Given the description of an element on the screen output the (x, y) to click on. 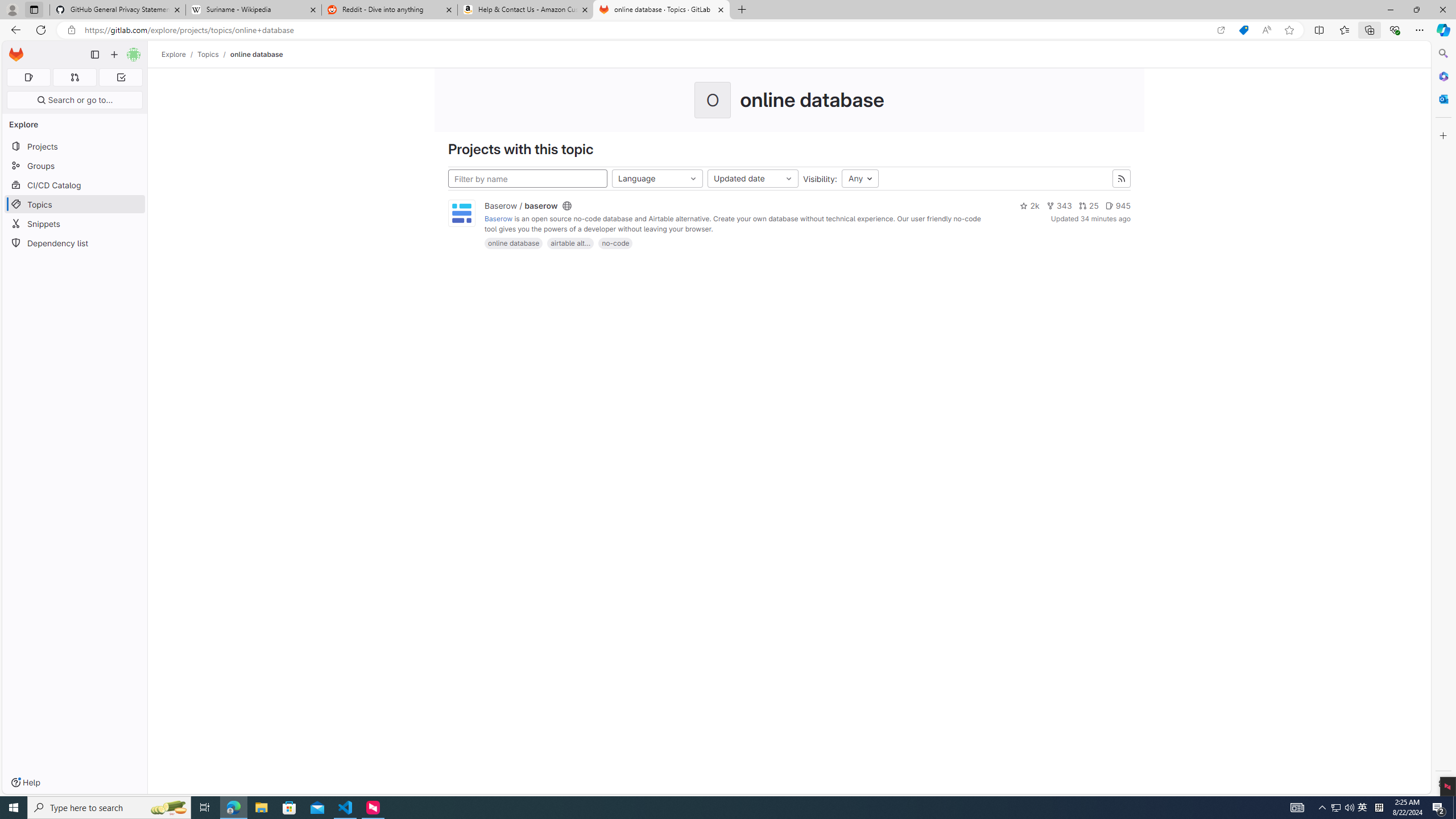
Updated date (752, 178)
Baserow (498, 218)
Primary navigation sidebar (94, 54)
Explore (173, 53)
Filter by name (527, 178)
online database (256, 53)
GitHub General Privacy Statement - GitHub Docs (117, 9)
Projects (74, 145)
945 (1118, 205)
